Given the description of an element on the screen output the (x, y) to click on. 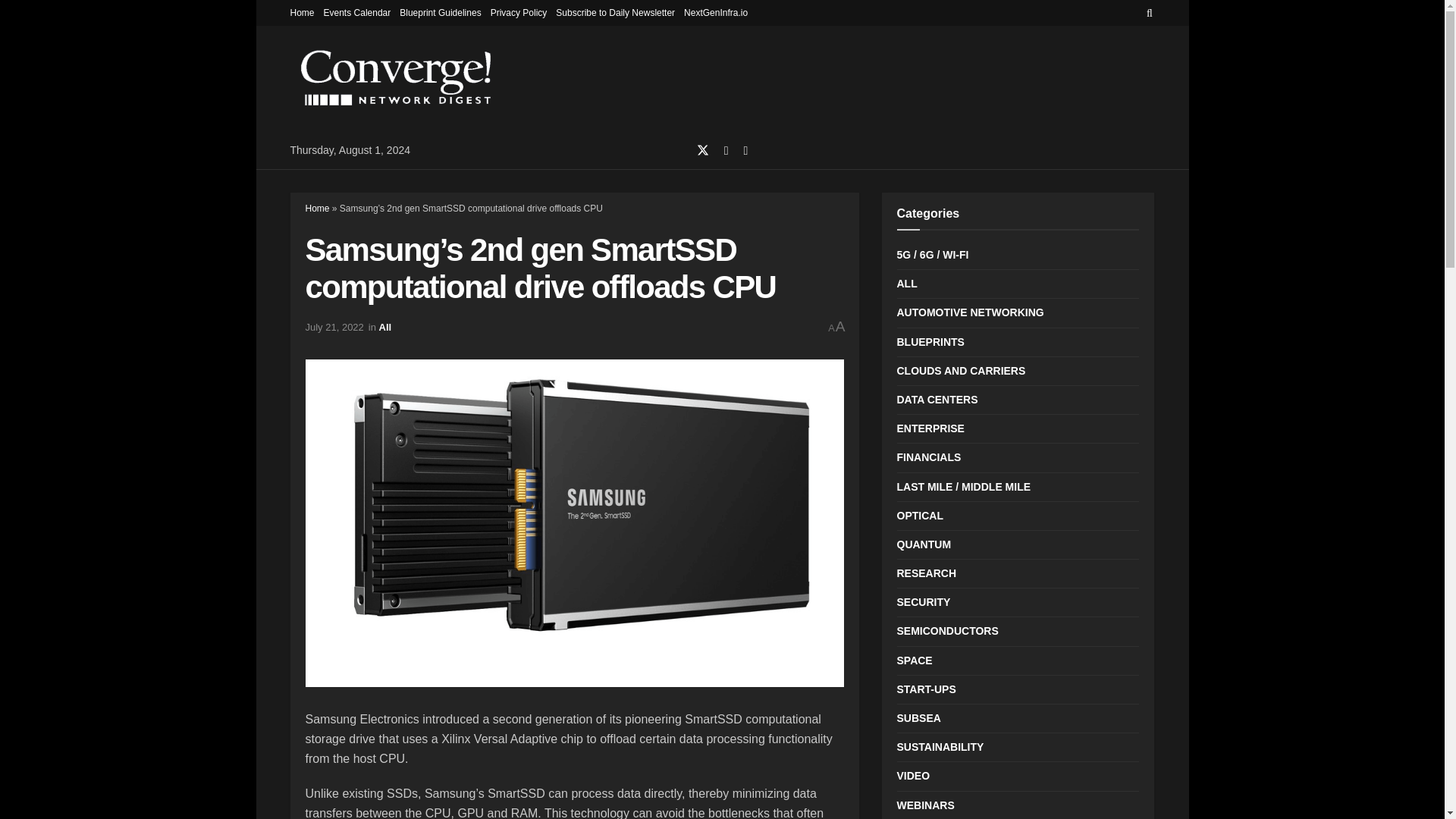
Home (301, 12)
All (384, 326)
Home (316, 208)
Subscribe to Daily Newsletter (615, 12)
July 21, 2022 (333, 326)
Events Calendar (357, 12)
Blueprint Guidelines (439, 12)
NextGenInfra.io (716, 12)
Privacy Policy (518, 12)
